Given the description of an element on the screen output the (x, y) to click on. 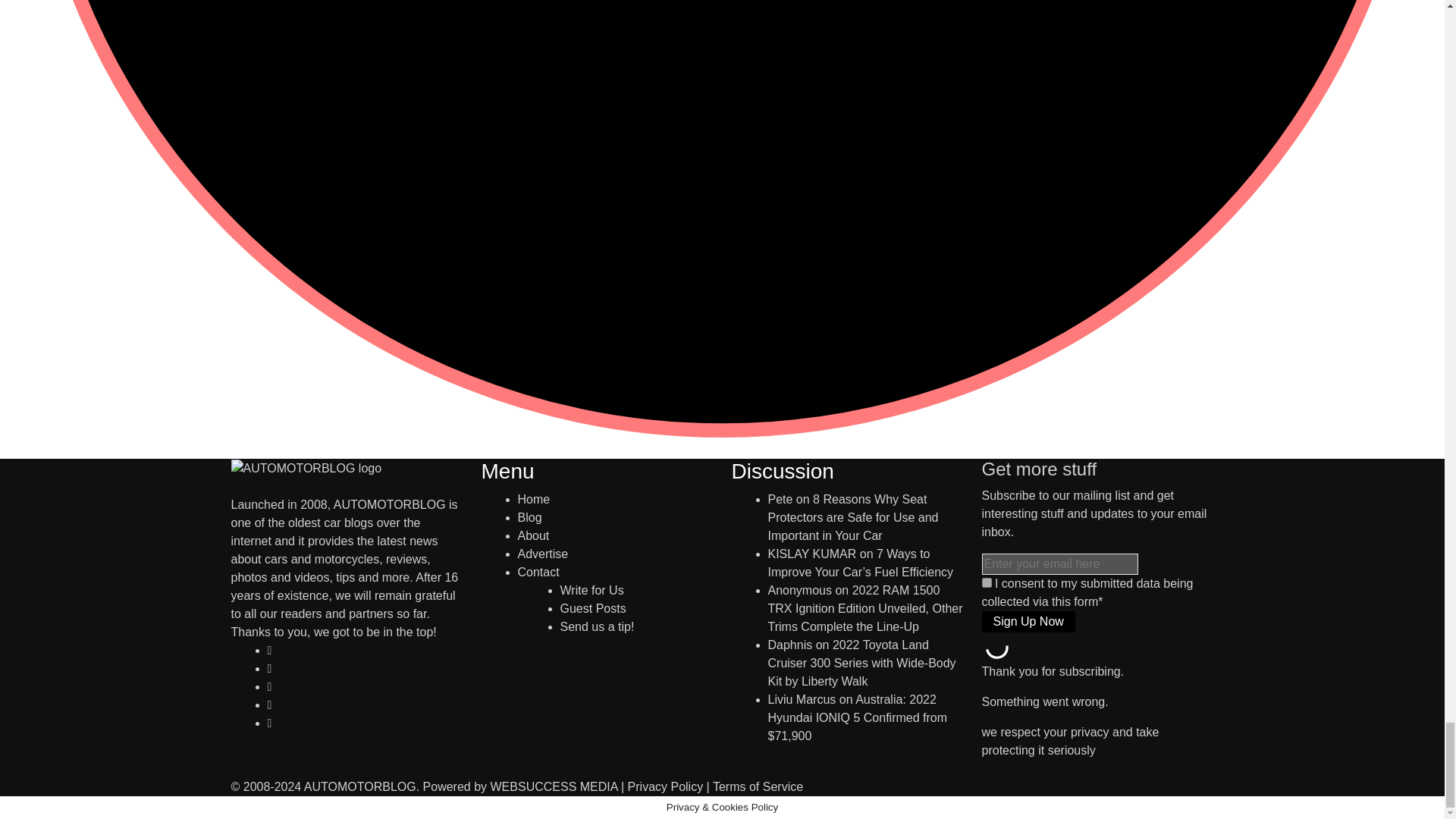
Privacy Policy (665, 786)
on (986, 583)
Terms of Service (758, 786)
Sign Up Now (1027, 621)
